Given the description of an element on the screen output the (x, y) to click on. 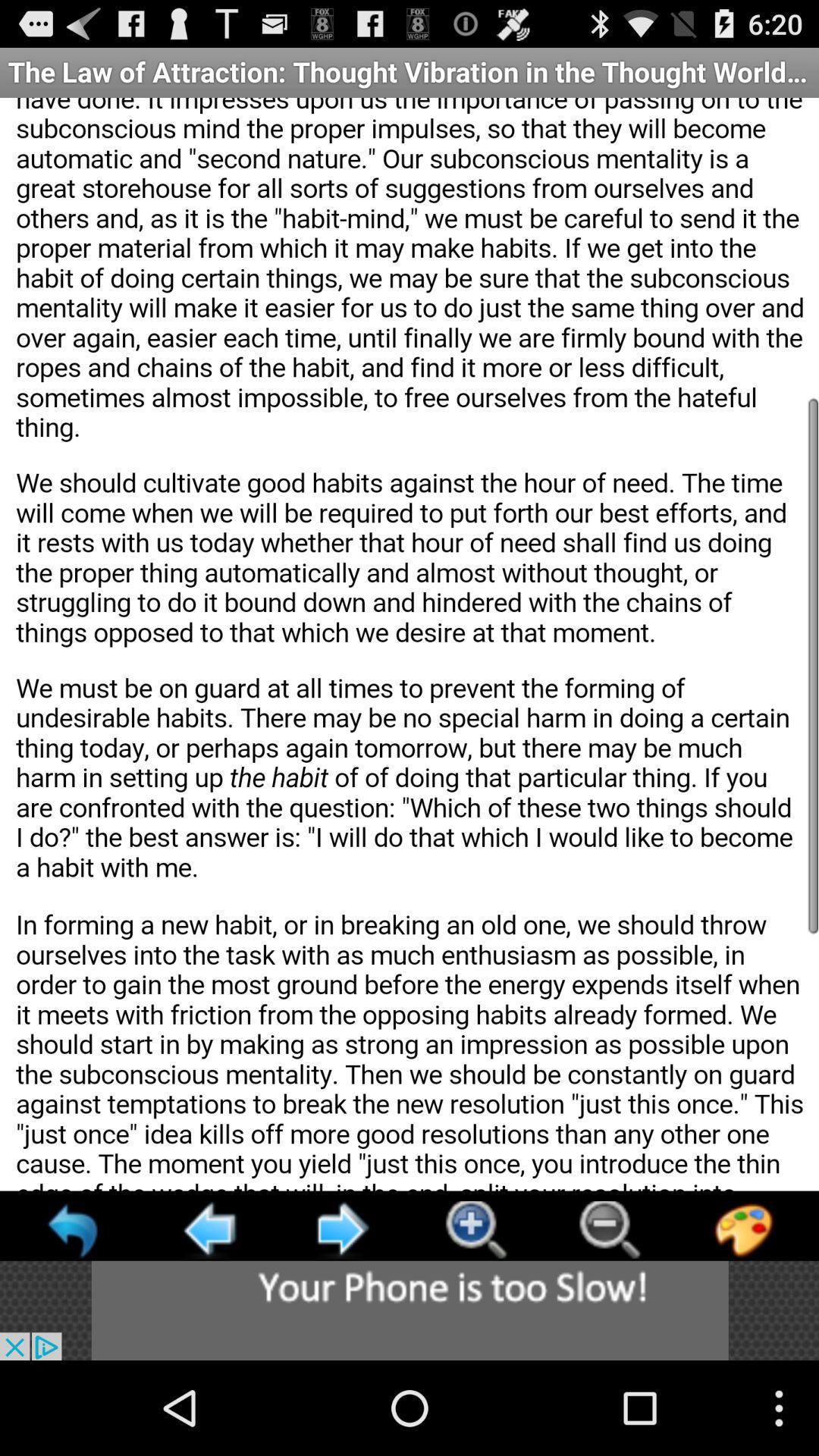
paint (743, 1229)
